Given the description of an element on the screen output the (x, y) to click on. 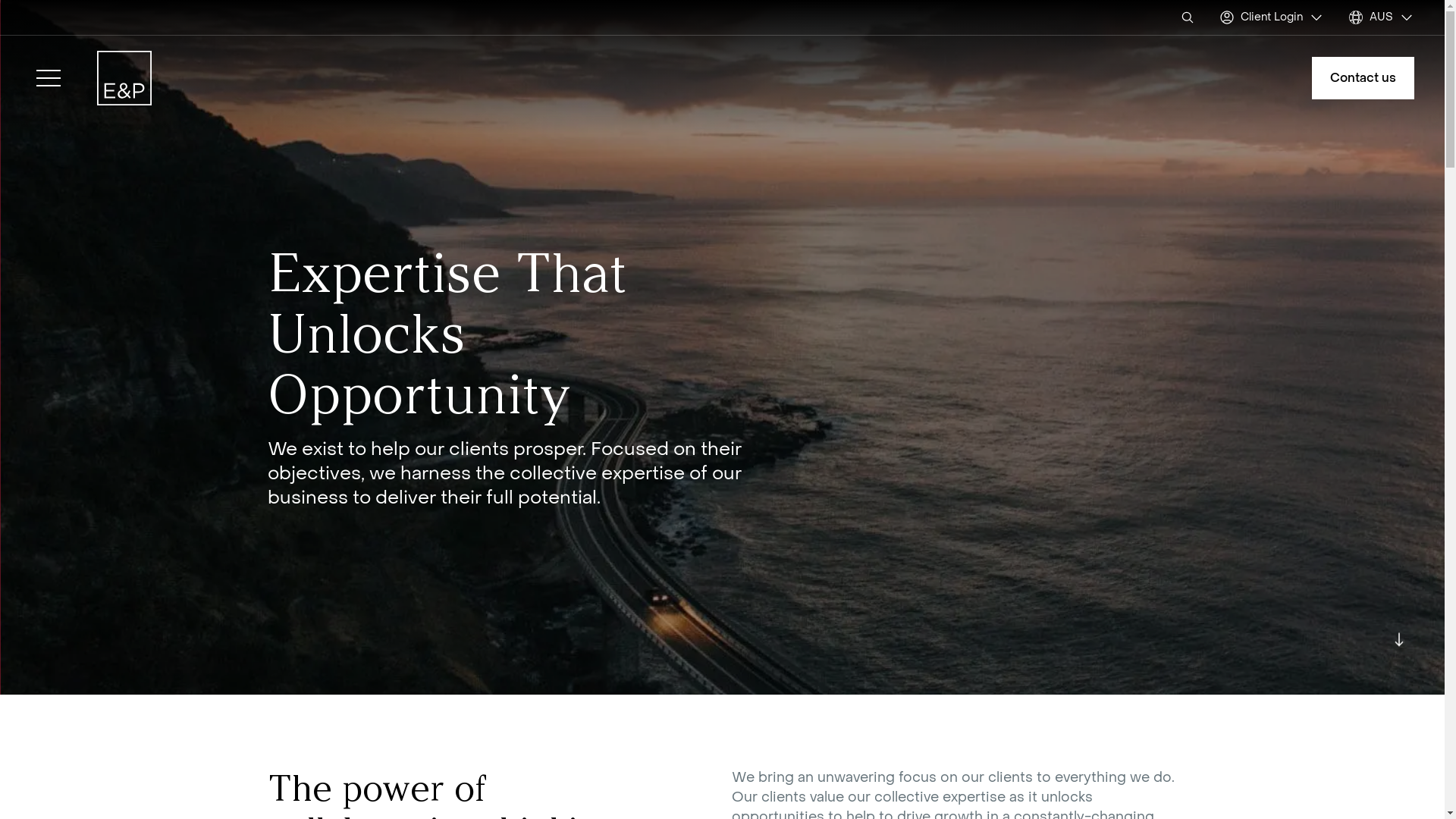
AUS Element type: text (1381, 17)
E&P Element type: hover (124, 77)
Client Login Element type: text (1271, 17)
Contact us Element type: text (1362, 77)
